Given the description of an element on the screen output the (x, y) to click on. 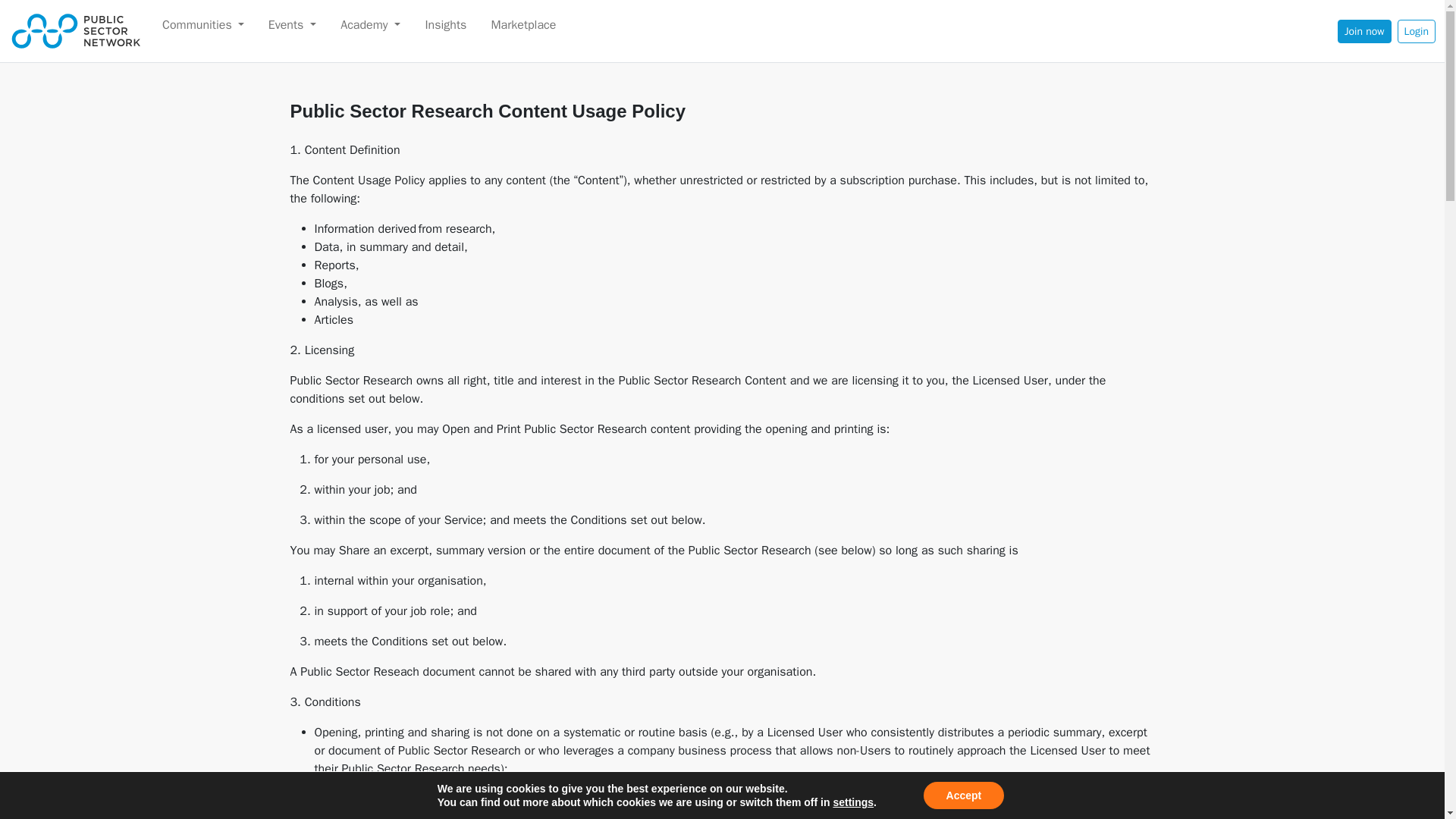
Events (292, 24)
Join now (1364, 31)
Communities (196, 24)
Insights (445, 24)
Academy (370, 24)
Marketplace (523, 24)
Login (1416, 31)
